Given the description of an element on the screen output the (x, y) to click on. 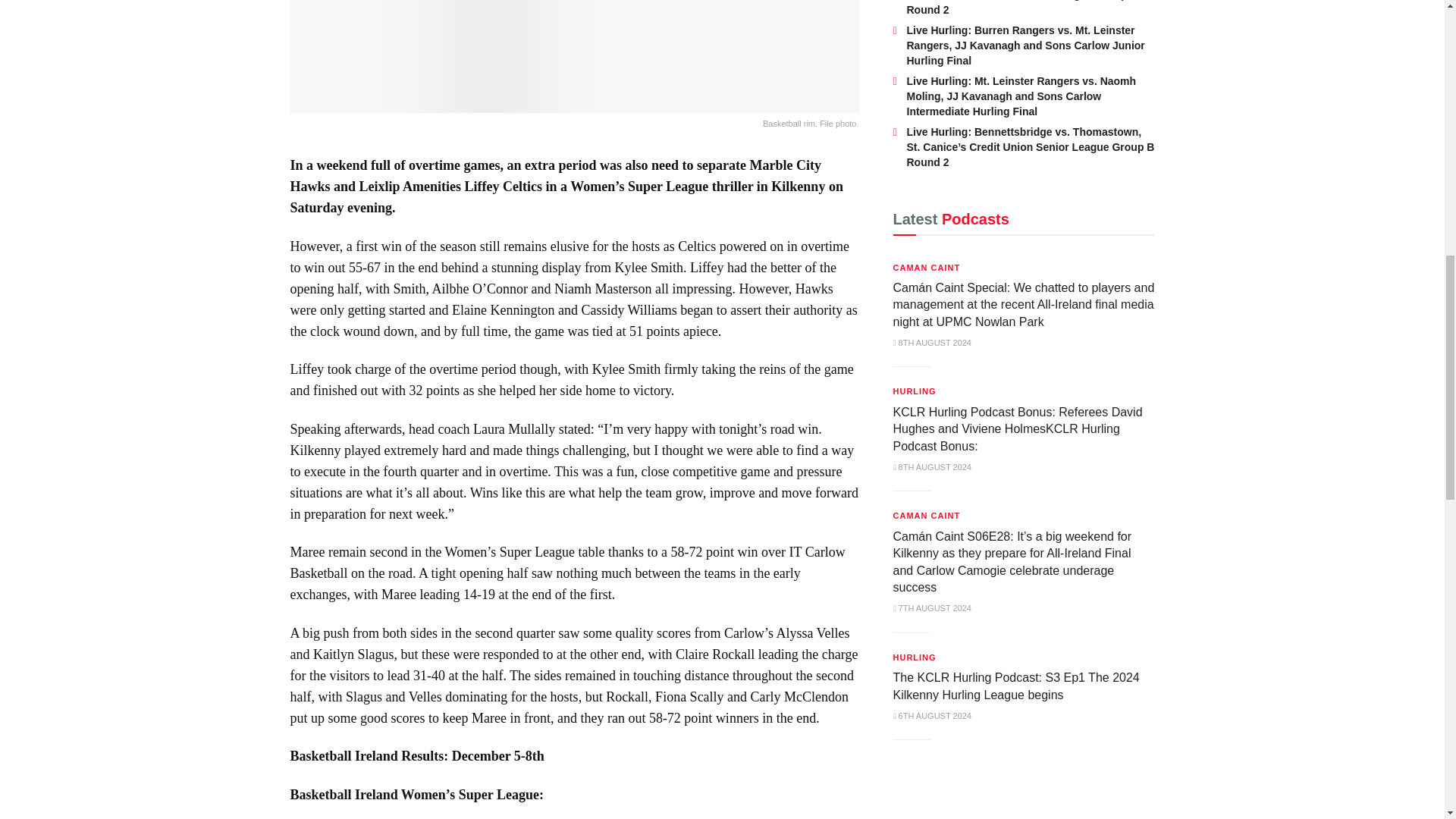
HURLING (914, 391)
CAMAN CAINT (926, 267)
8TH AUGUST 2024 (932, 466)
8TH AUGUST 2024 (932, 342)
Basketball rim. File photo. (574, 65)
